Given the description of an element on the screen output the (x, y) to click on. 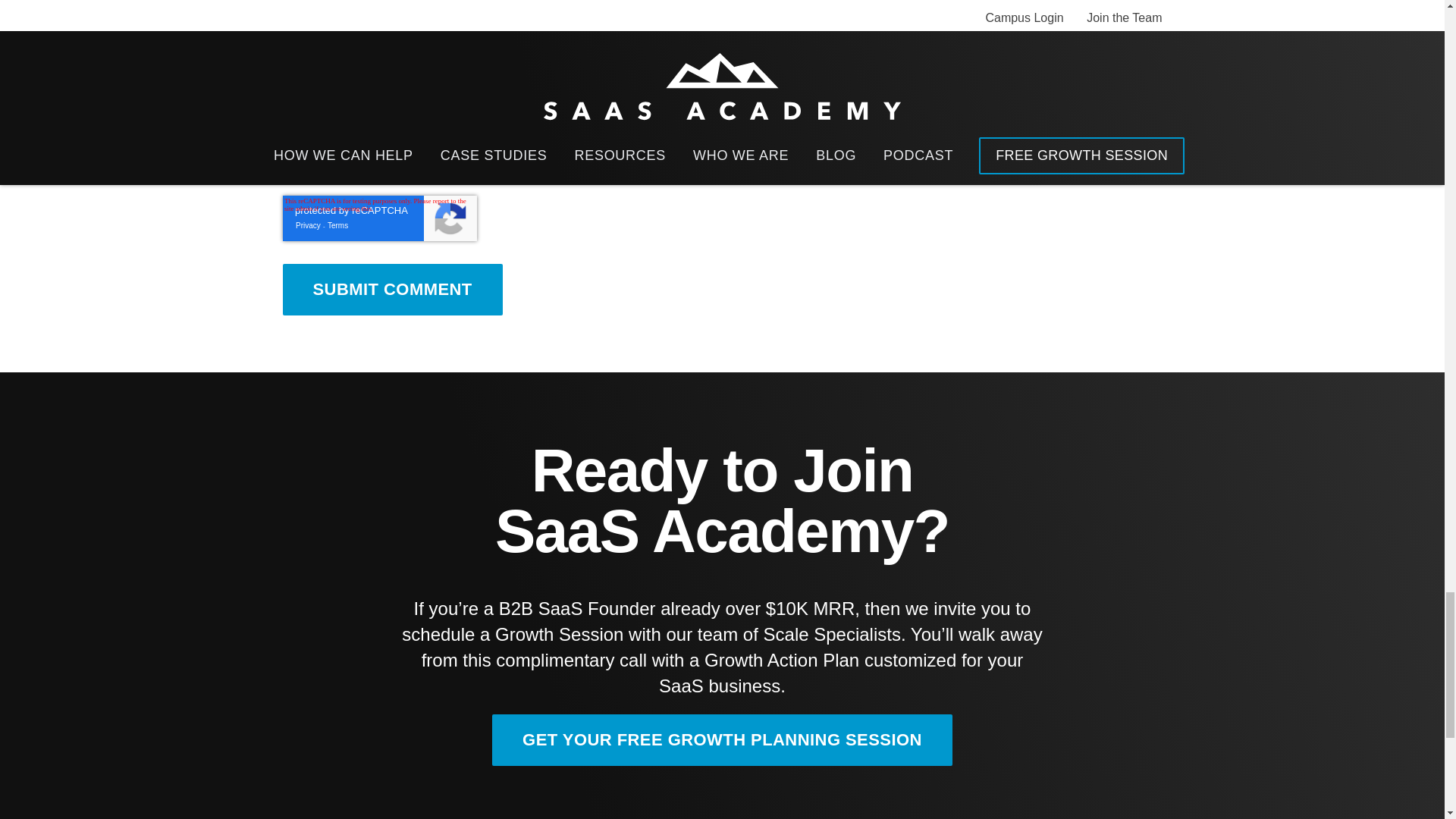
Get Your Free Growth Planning Session (722, 739)
Submit Comment (392, 289)
reCAPTCHA (379, 217)
